Given the description of an element on the screen output the (x, y) to click on. 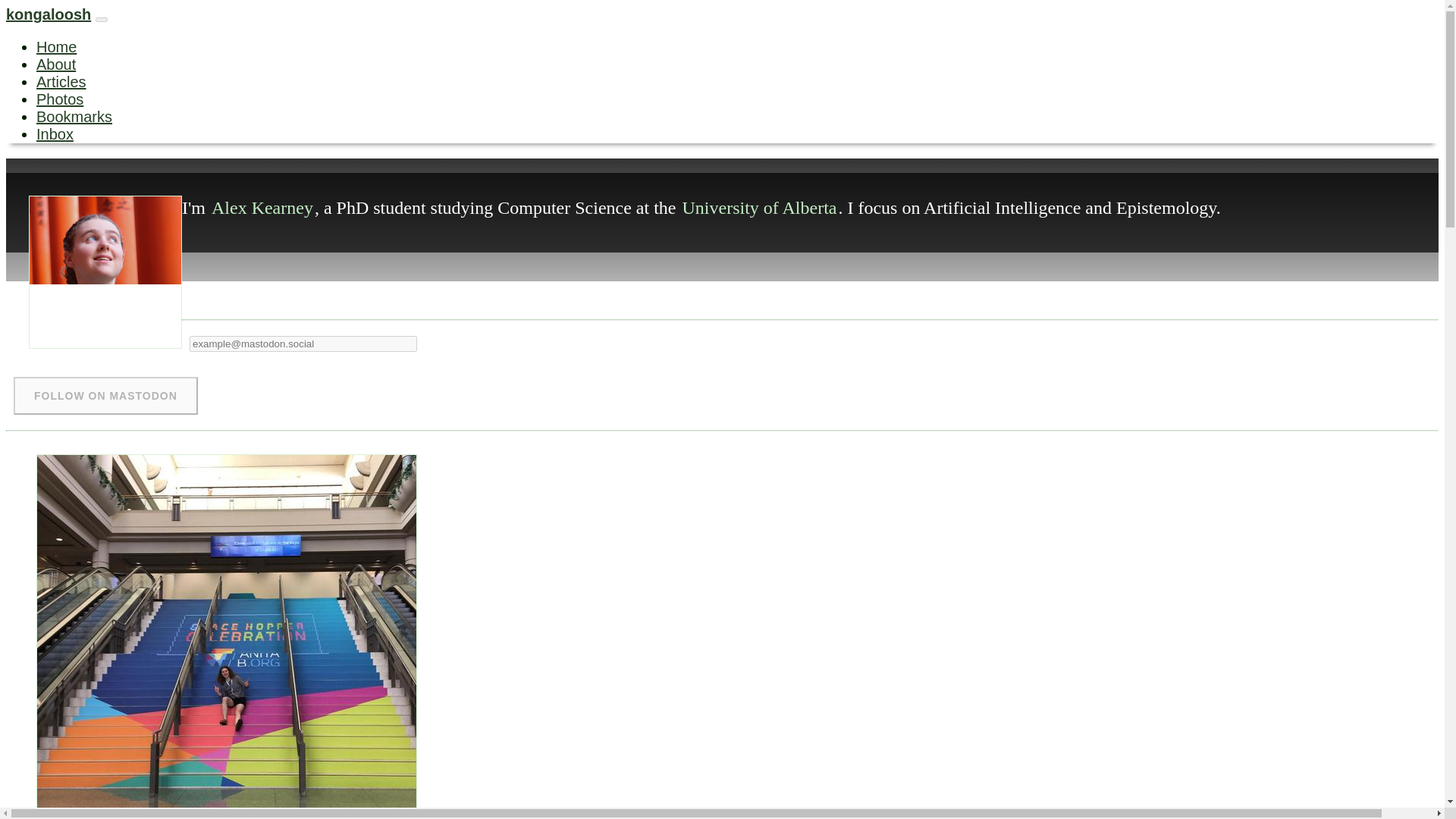
follow on mastodon (105, 395)
University of Alberta (759, 207)
Alex Kearney (261, 207)
Bookmarks (74, 116)
Inbox (55, 134)
Articles (60, 81)
kongaloosh (47, 13)
Home (56, 46)
About (55, 64)
follow on mastodon (105, 395)
